Given the description of an element on the screen output the (x, y) to click on. 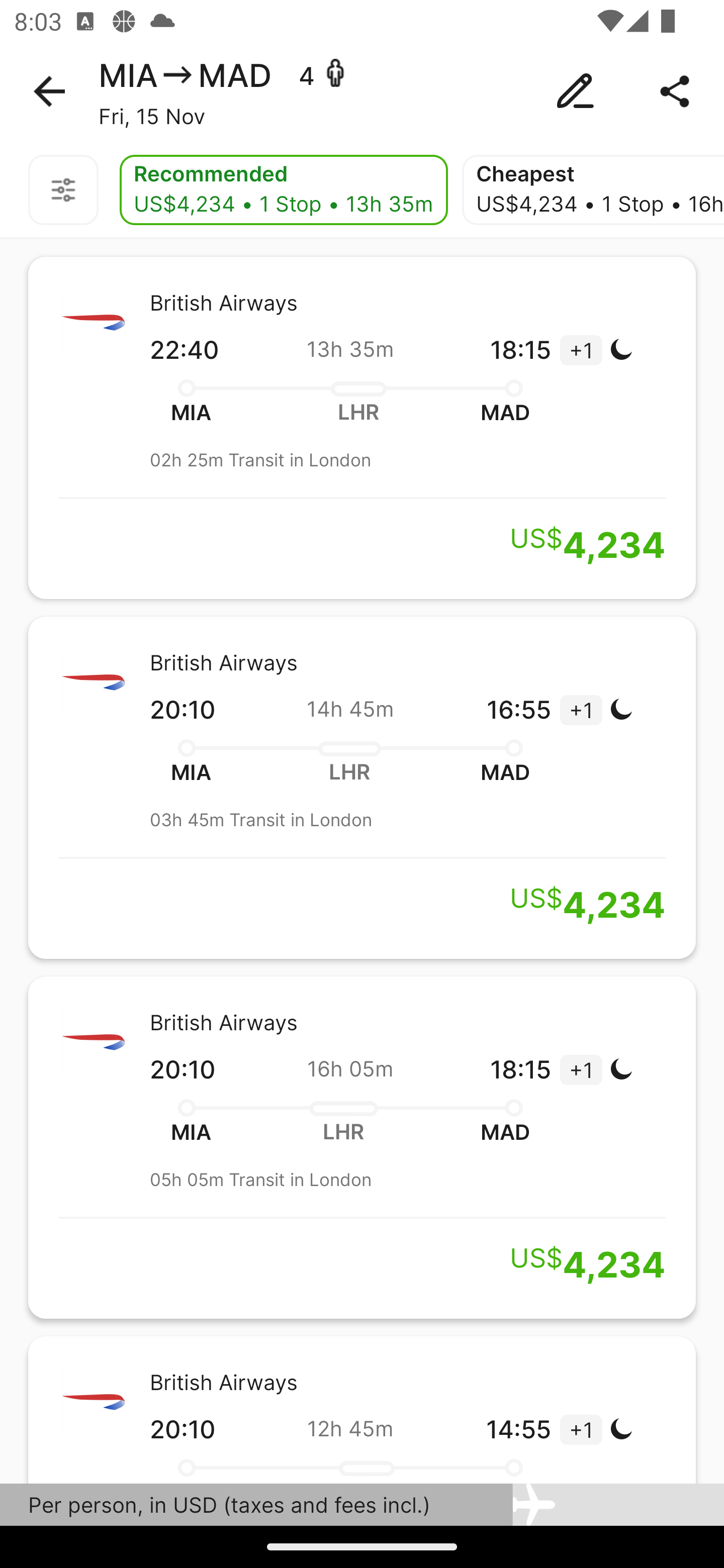
MIA MAD   4 - Fri, 15 Nov (361, 91)
Recommended  US$4,234 • 1 Stop • 13h 35m (283, 190)
Cheapest US$4,234 • 1 Stop • 16h 5m (592, 190)
British Airways 20:10 12h 45m 14:55 MIA LHR MAD +1 (361, 1409)
